Given the description of an element on the screen output the (x, y) to click on. 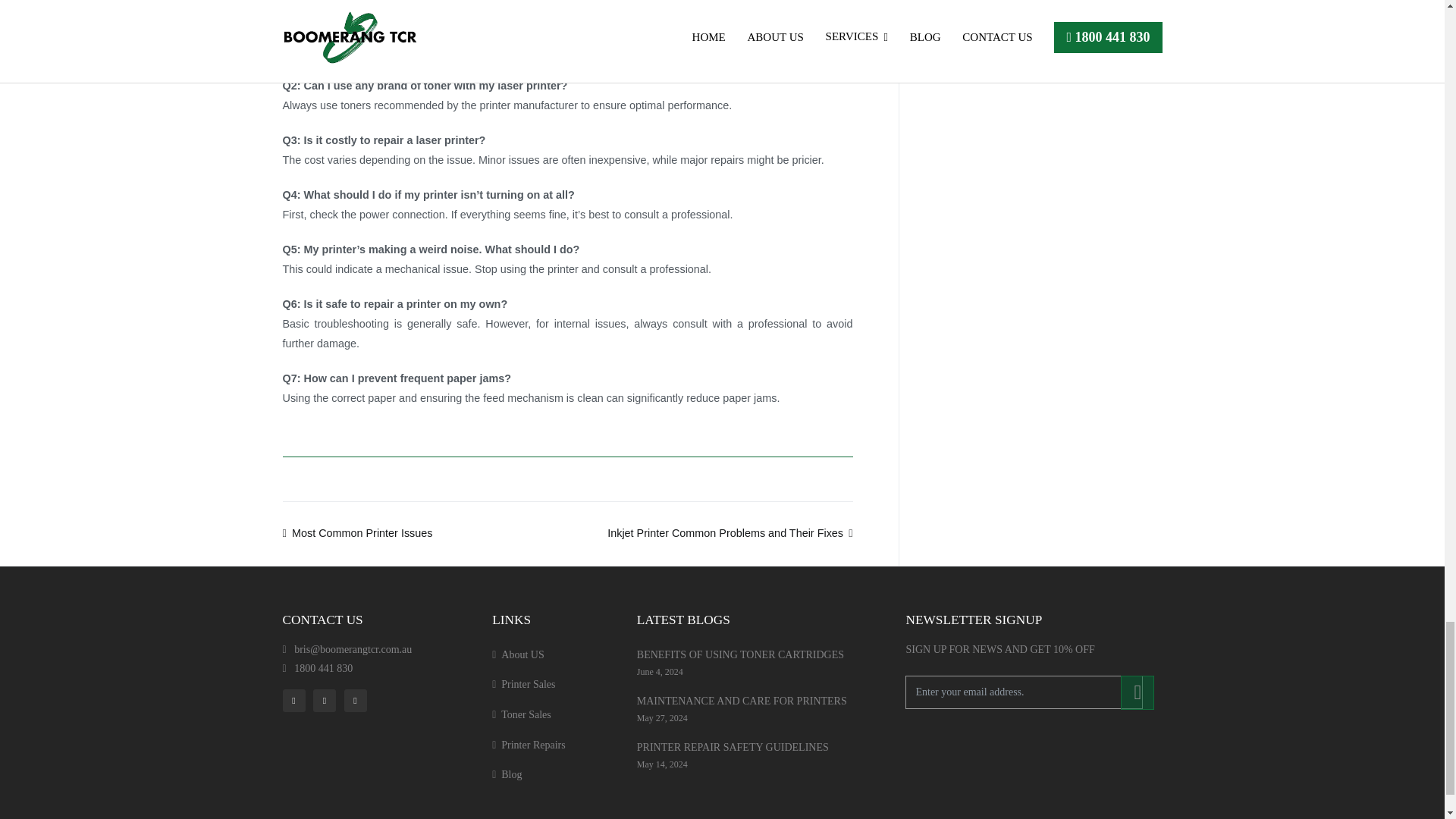
twitter (326, 699)
Facebook (296, 699)
GooglePlus (357, 699)
Most Common Printer Issues (357, 532)
